Given the description of an element on the screen output the (x, y) to click on. 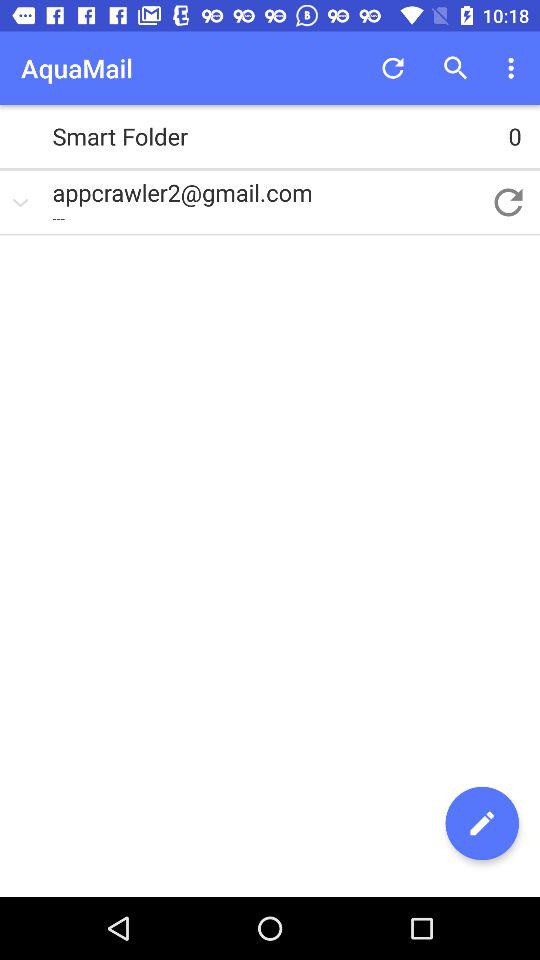
click the item above smart folder (392, 67)
